Given the description of an element on the screen output the (x, y) to click on. 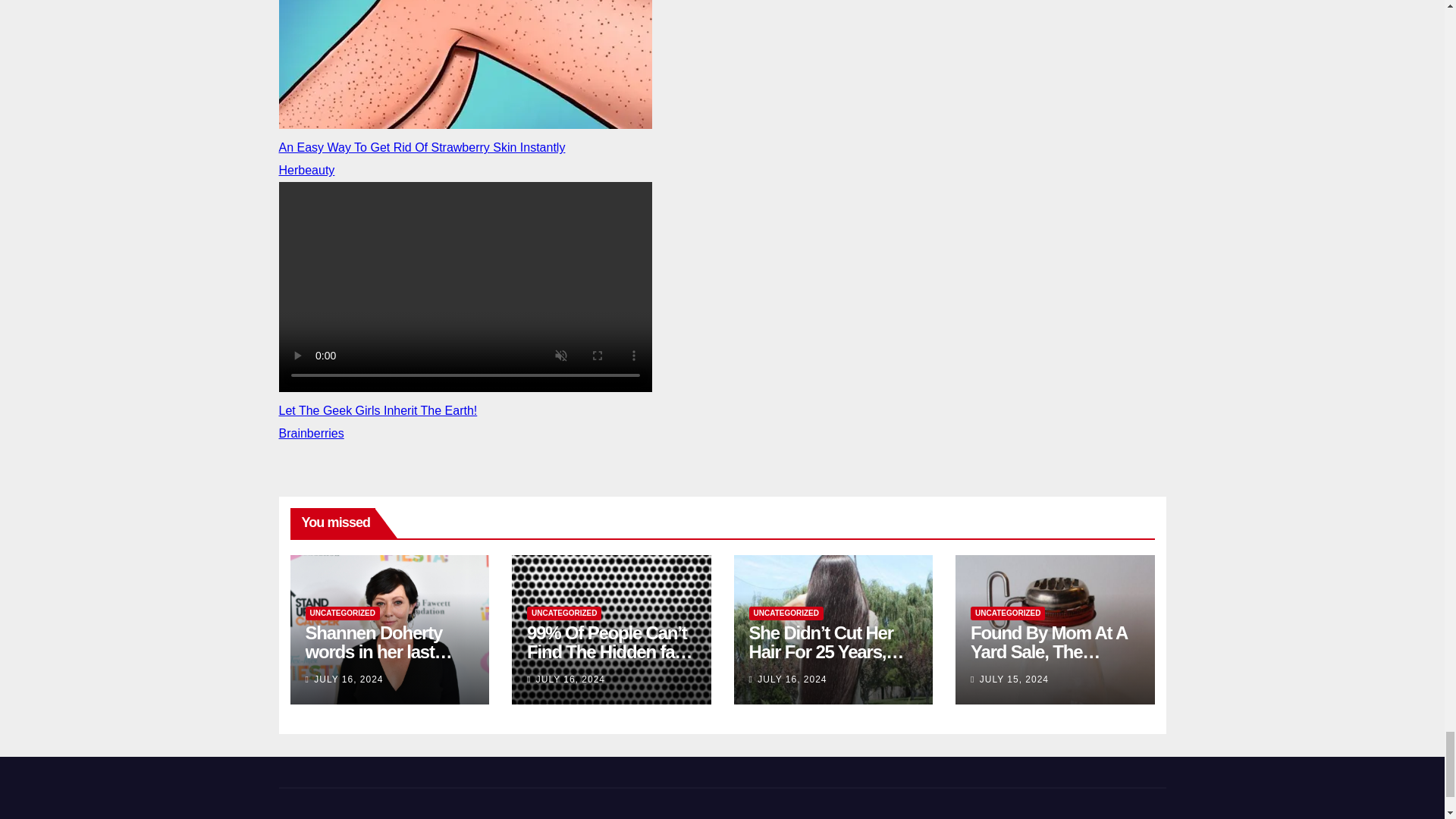
JULY 16, 2024 (348, 679)
UNCATEGORIZED (341, 612)
UNCATEGORIZED (786, 612)
UNCATEGORIZED (564, 612)
JULY 16, 2024 (570, 679)
